Given the description of an element on the screen output the (x, y) to click on. 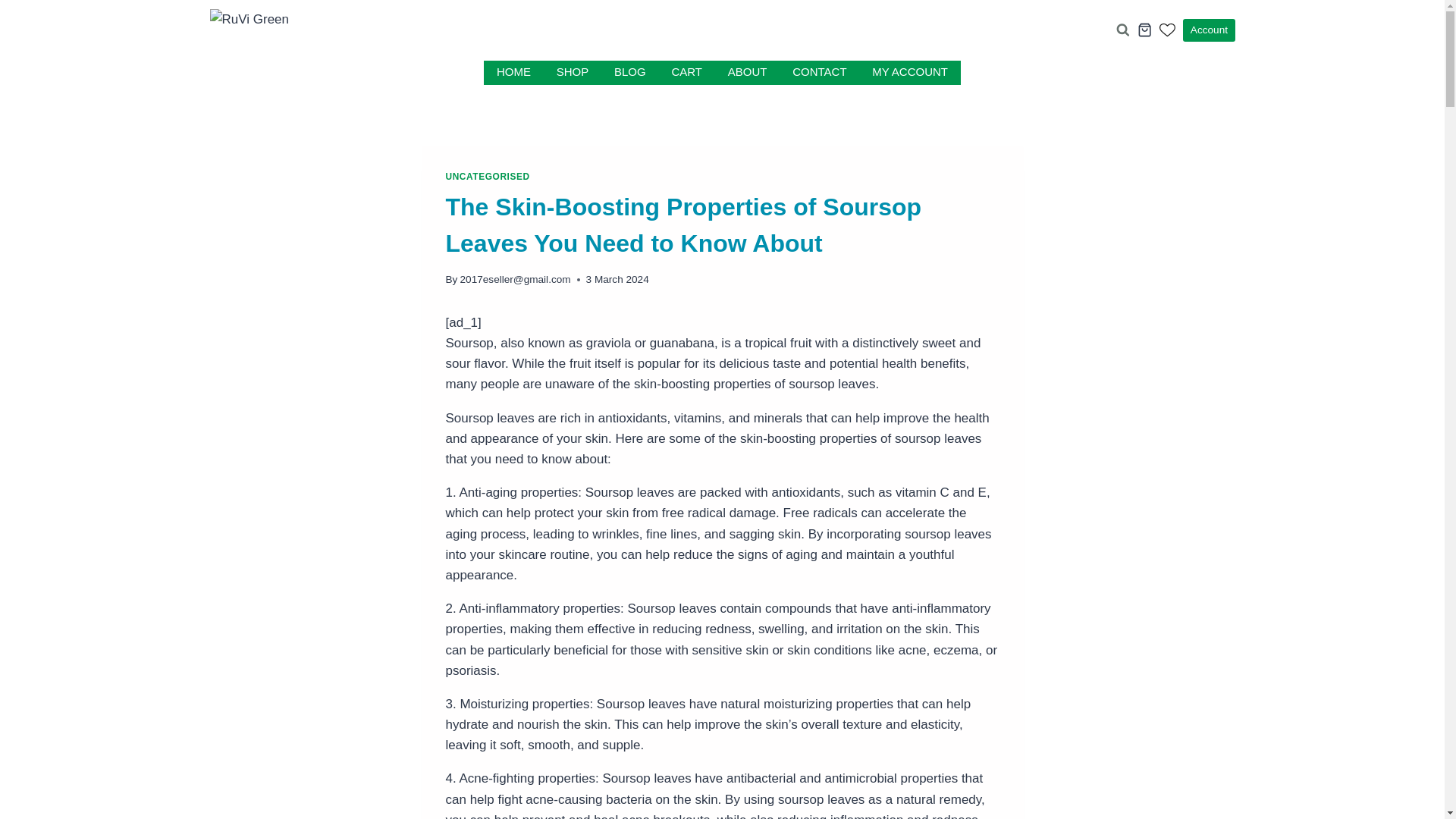
HOME (513, 72)
CONTACT (818, 72)
Account (1208, 29)
CART (686, 72)
ABOUT (746, 72)
SHOP (572, 72)
MY ACCOUNT (909, 72)
BLOG (629, 72)
UNCATEGORISED (487, 176)
RuVi Green (311, 30)
